Given the description of an element on the screen output the (x, y) to click on. 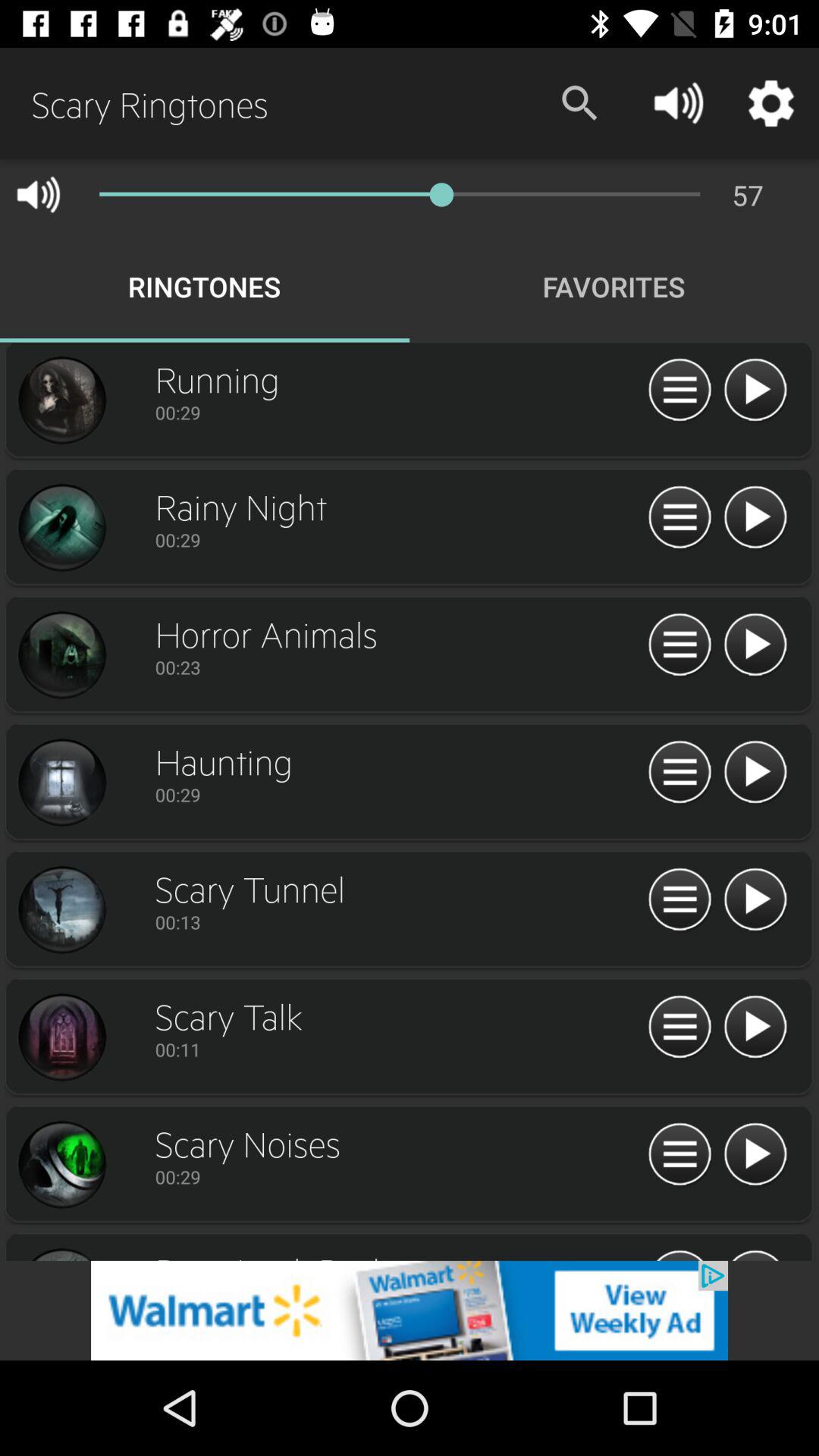
switch play button (755, 772)
